Given the description of an element on the screen output the (x, y) to click on. 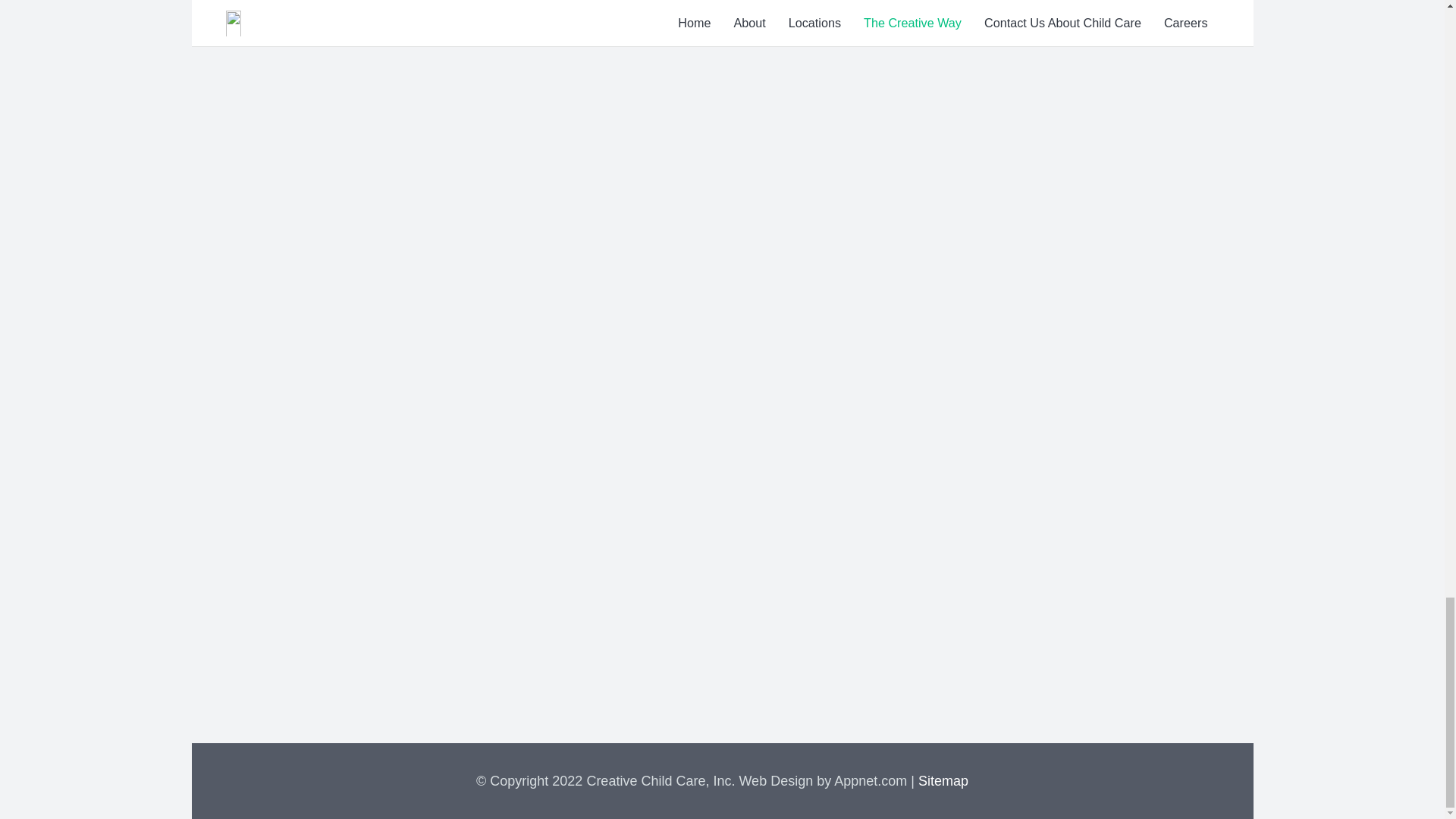
Sitemap (943, 780)
